Given the description of an element on the screen output the (x, y) to click on. 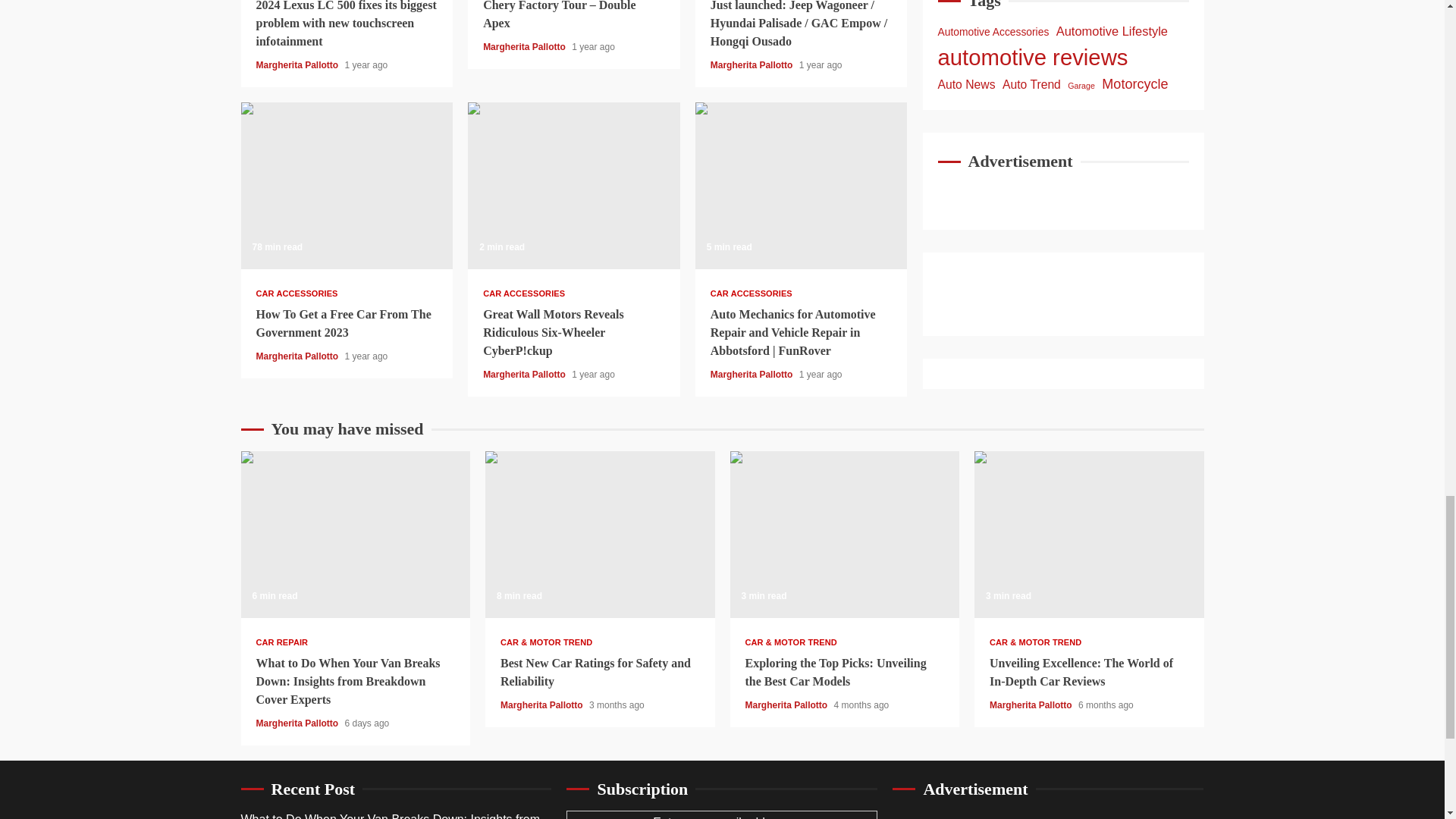
How To Get a Free Car From The Government 2023 (346, 185)
Margherita Pallotto (752, 64)
Margherita Pallotto (298, 64)
How To Get a Free Car From The Government 2023 (346, 185)
Unveiling Excellence: The World of In-Depth Car Reviews (1089, 534)
Best Car Models (844, 534)
Great Wall Motors Reveals Ridiculous Six-Wheeler CyberP!ckup (573, 185)
Best New Car Ratings for Safety and Reliability (599, 534)
